Given the description of an element on the screen output the (x, y) to click on. 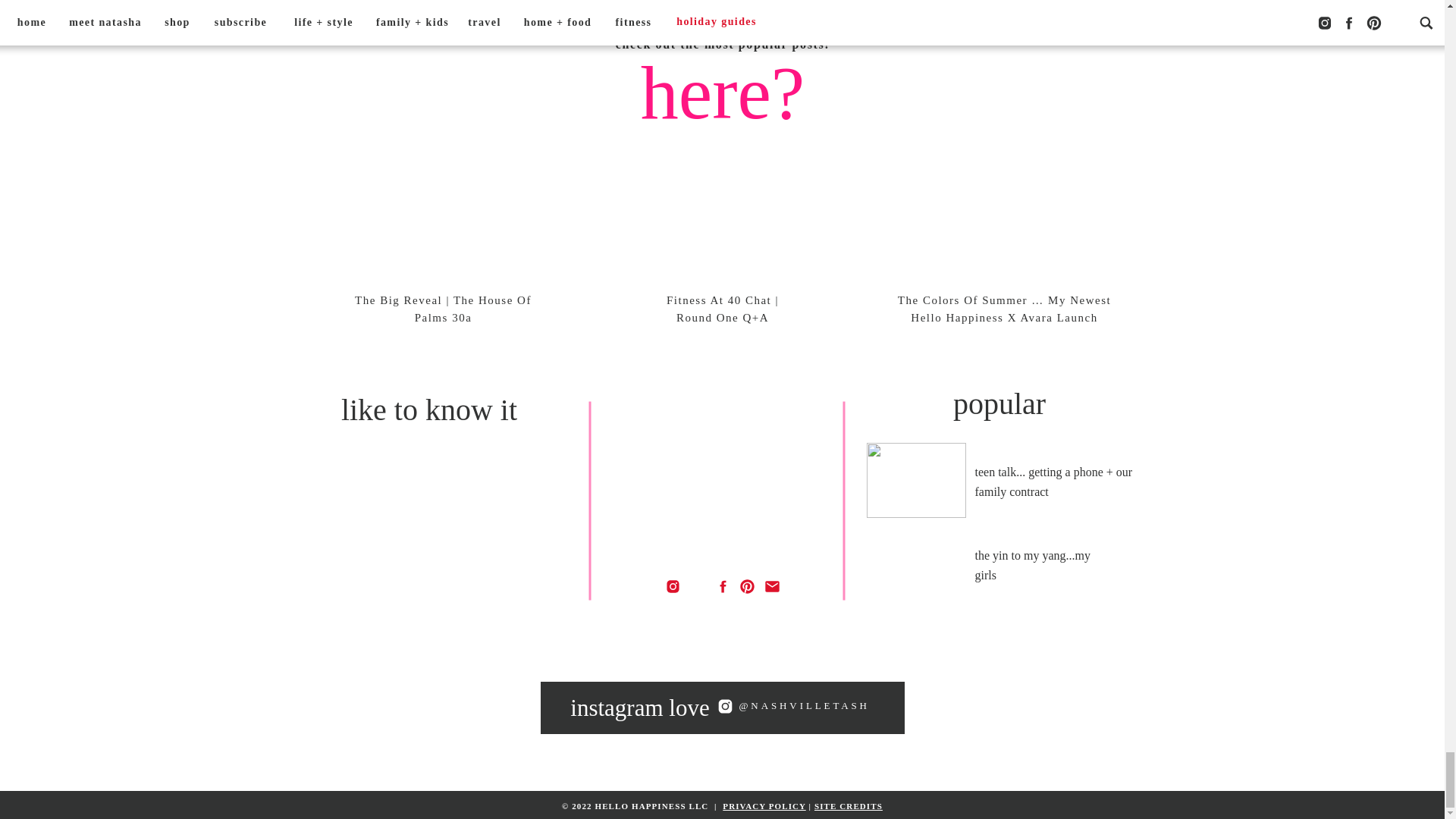
ZLP03919 (484, 706)
ZLP09876 (959, 706)
